Given the description of an element on the screen output the (x, y) to click on. 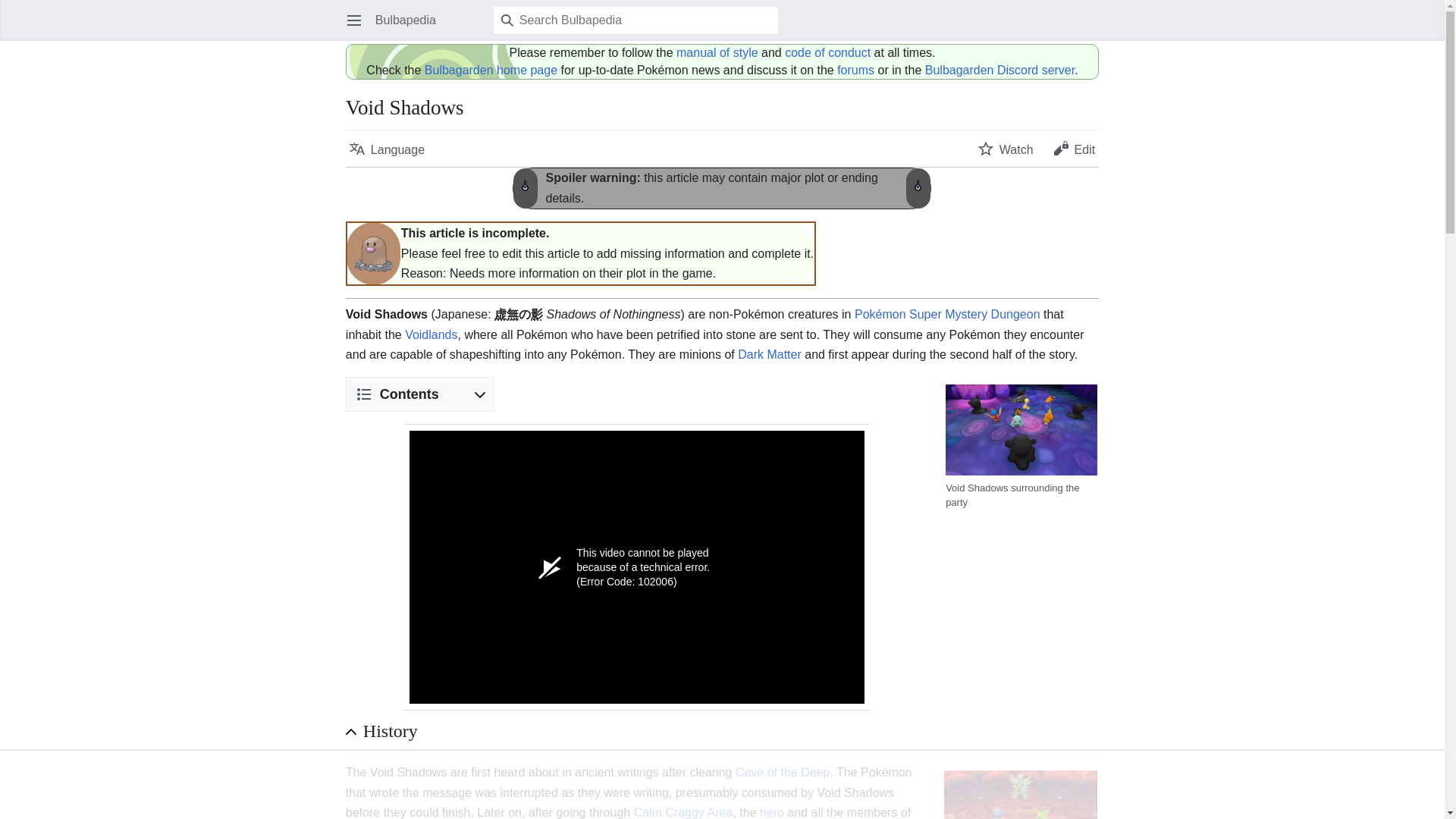
Bulbapedia:Manual of style (717, 51)
code of conduct (827, 51)
forums (856, 69)
Watch (1005, 148)
201 (917, 179)
Edit (1074, 148)
Edit the lead section of this page (1074, 148)
Language (386, 148)
Bulbapedia:Spoiler warning (592, 177)
Dark Matter (770, 354)
Calm Craggy Area (683, 812)
hero (772, 812)
Calm Craggy Area (683, 812)
Language (386, 148)
Spoiler warning: (592, 177)
